Given the description of an element on the screen output the (x, y) to click on. 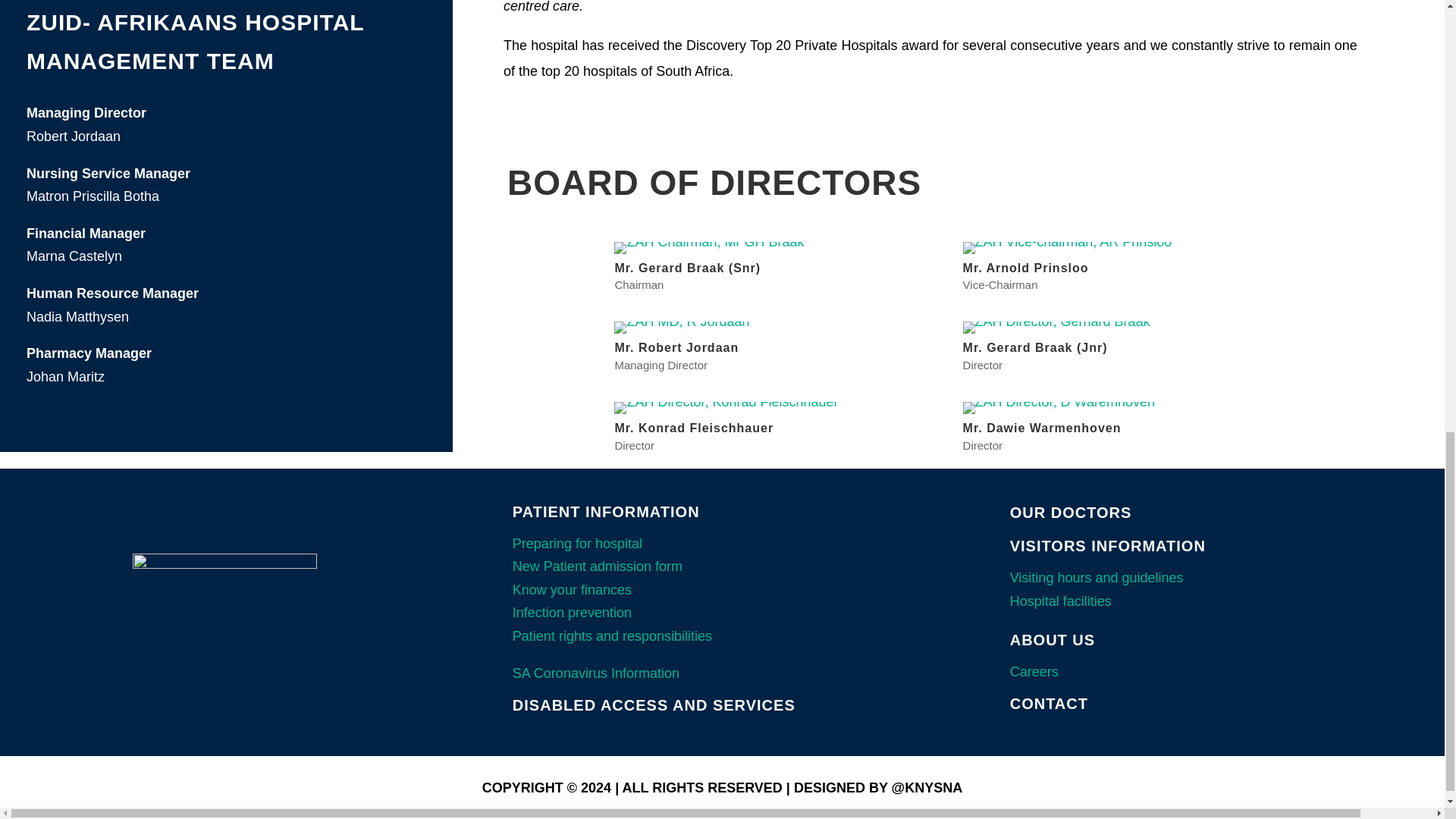
Know your finances (571, 589)
Preparing for hospital (577, 543)
Mr. Konrad Fleischhauer (726, 401)
Know your finances (571, 589)
Infection prevention (571, 612)
About us (1052, 639)
Mr. Dawie Warmenhoven (1058, 401)
Visiting hours and guidelines (1096, 577)
ABOUT US (1052, 639)
DISABLED ACCESS AND SERVICES (653, 704)
